Given the description of an element on the screen output the (x, y) to click on. 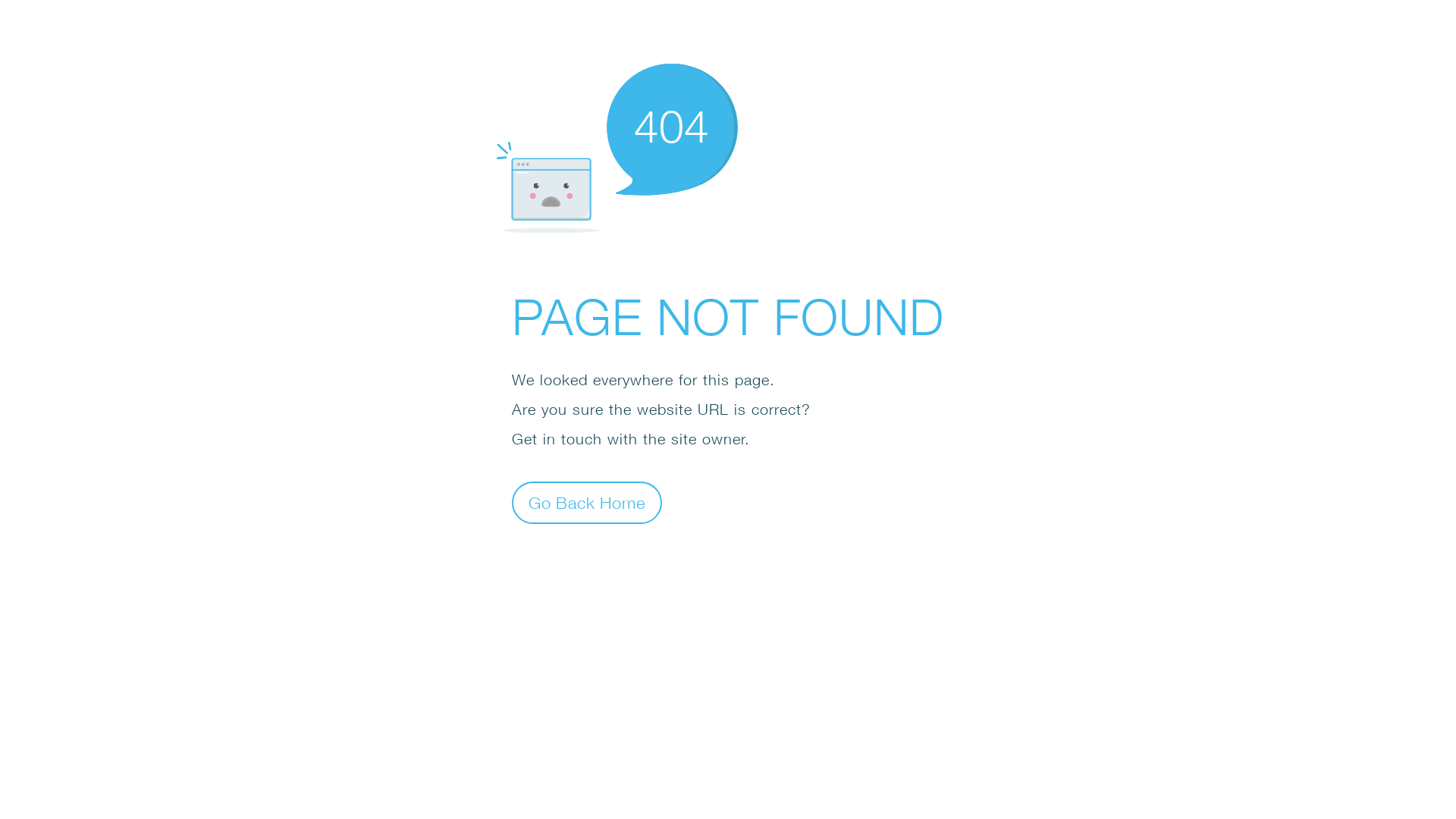
Go Back Home Element type: text (586, 502)
